Given the description of an element on the screen output the (x, y) to click on. 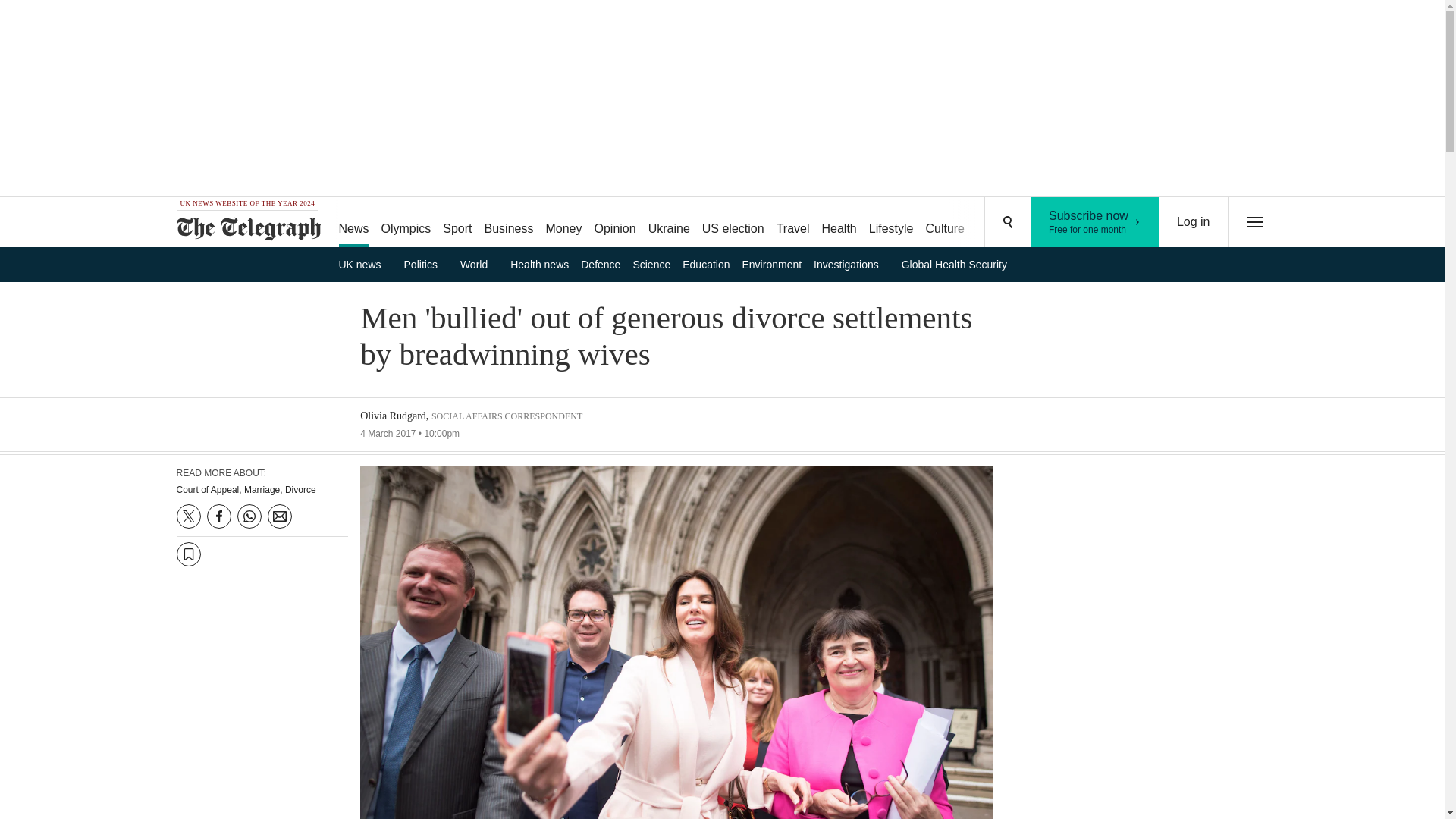
Olympics (406, 223)
Business (509, 223)
Log in (1193, 222)
Podcasts (1056, 223)
Travel (792, 223)
World (478, 264)
Puzzles (998, 223)
Politics (425, 264)
UK news (1094, 222)
Culture (364, 264)
US election (944, 223)
Ukraine (732, 223)
Lifestyle (668, 223)
Opinion (891, 223)
